Given the description of an element on the screen output the (x, y) to click on. 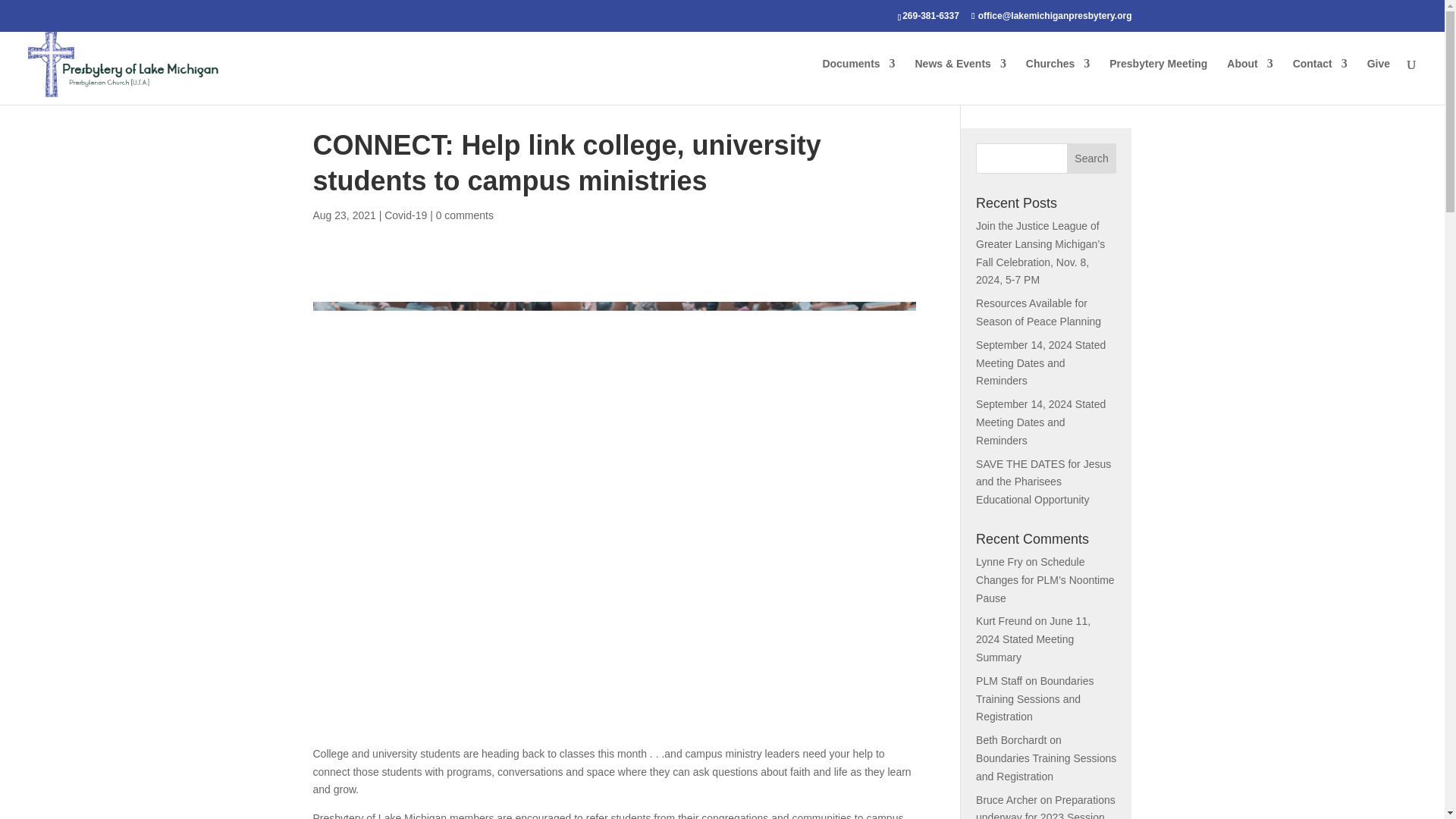
Documents (858, 81)
Search (1091, 158)
Churches (1058, 81)
Presbytery Meeting (1158, 81)
Contact (1320, 81)
About (1249, 81)
0 comments (464, 215)
Covid-19 (405, 215)
